Given the description of an element on the screen output the (x, y) to click on. 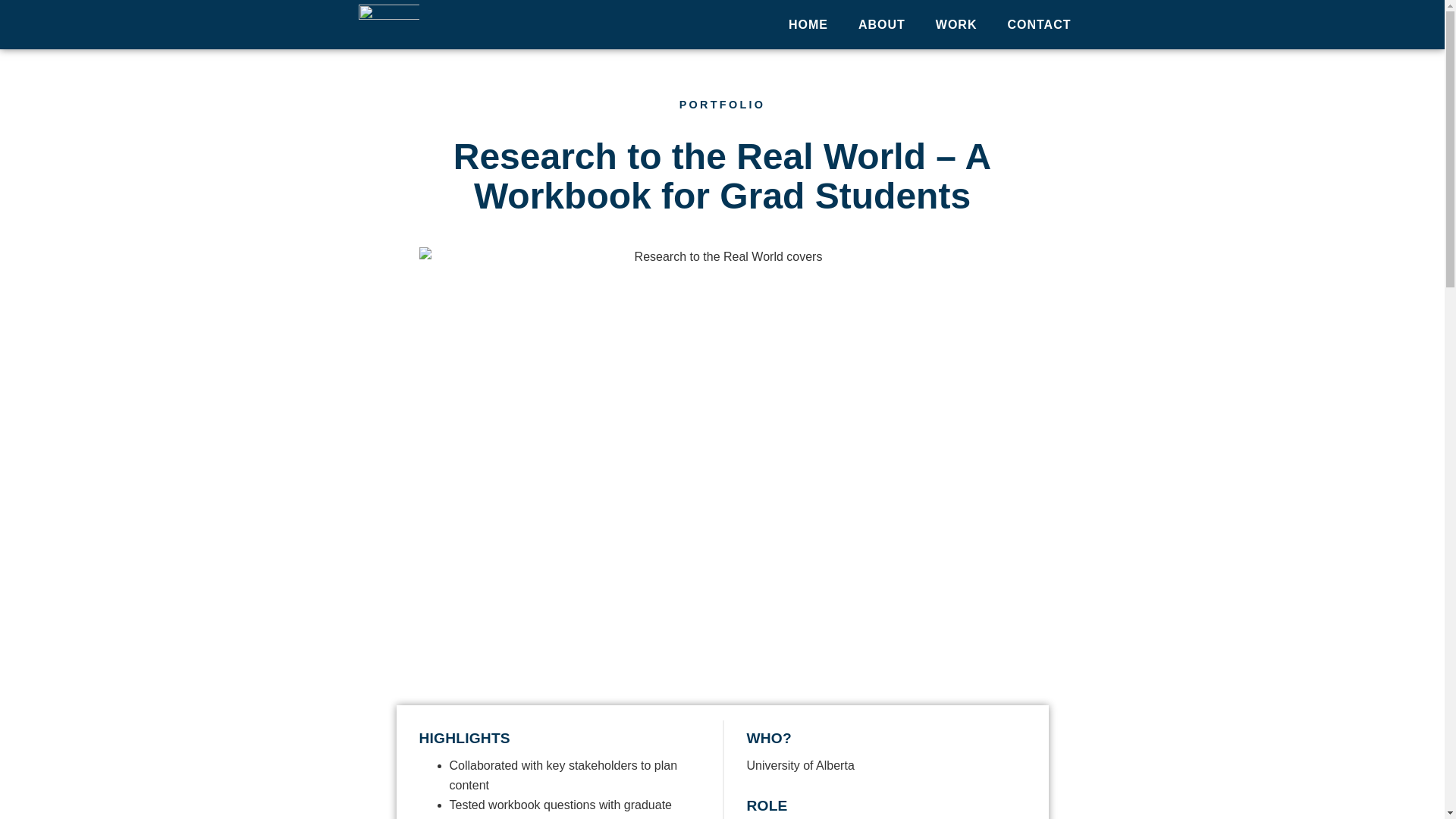
HOME (808, 24)
ABOUT (881, 24)
WORK (956, 24)
CONTACT (1038, 24)
